Given the description of an element on the screen output the (x, y) to click on. 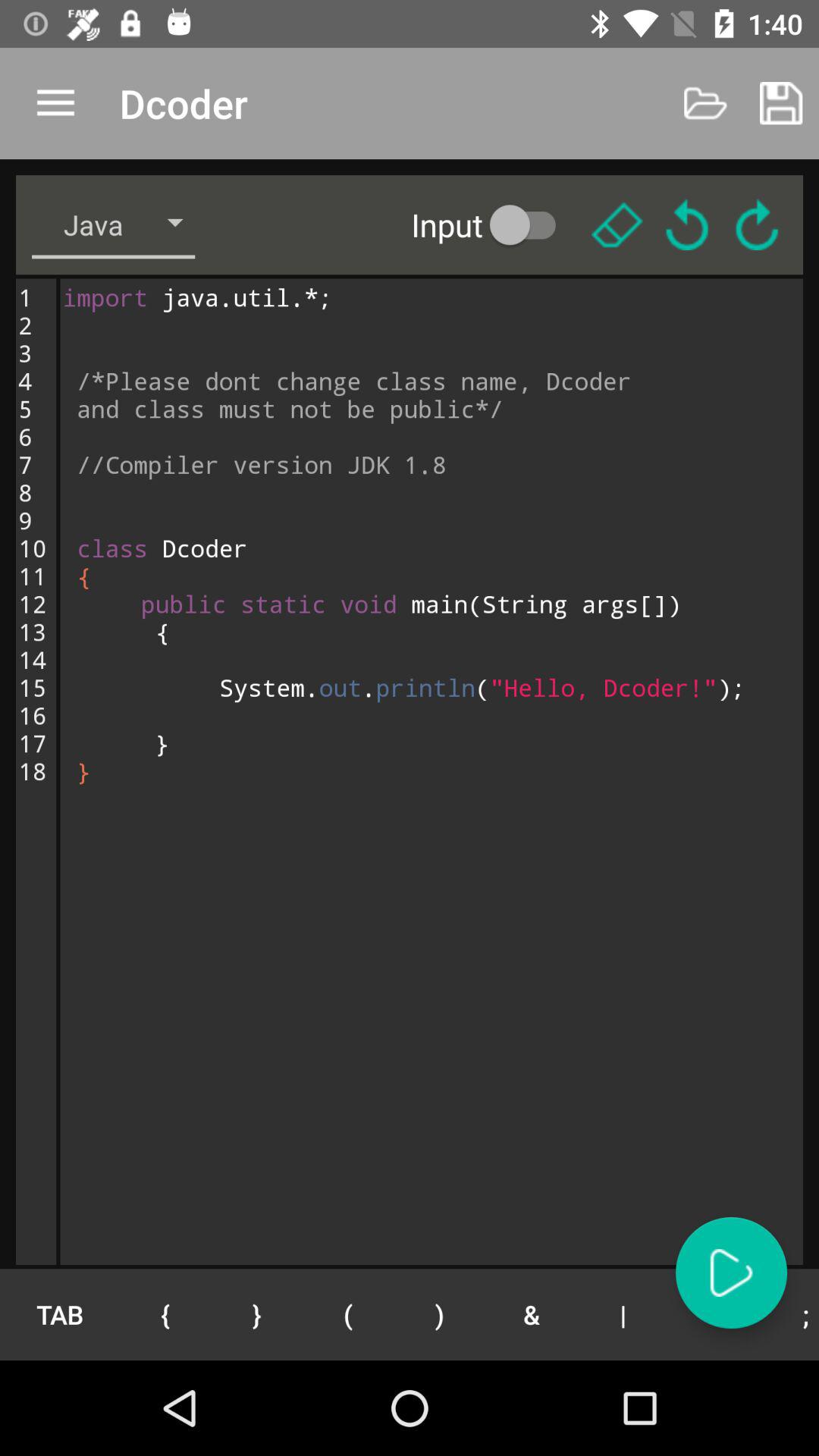
rotate clockwise (756, 224)
